Given the description of an element on the screen output the (x, y) to click on. 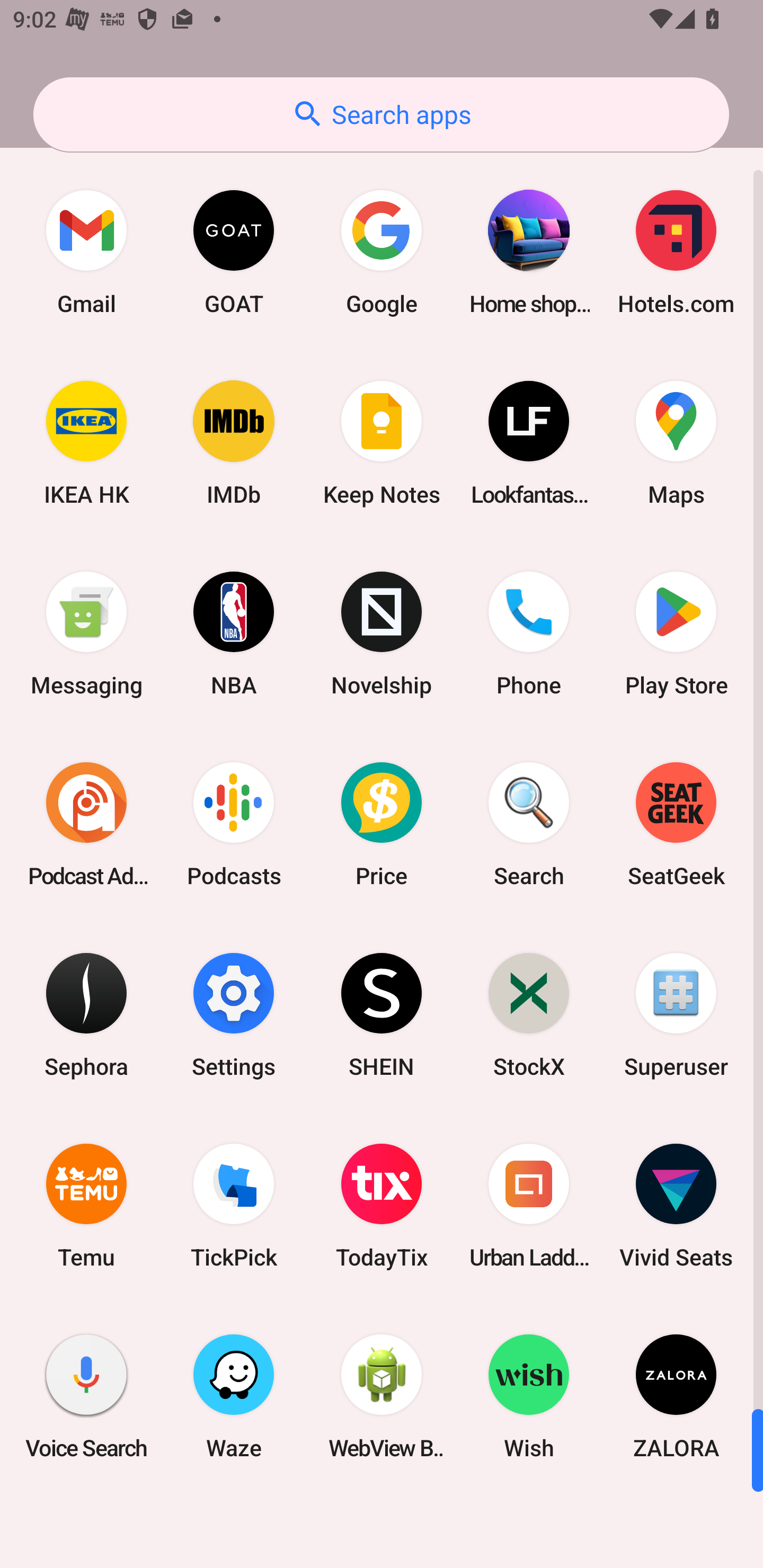
  Search apps (381, 114)
Gmail (86, 252)
GOAT (233, 252)
Google (381, 252)
Home shopping (528, 252)
Hotels.com (676, 252)
IKEA HK (86, 442)
IMDb (233, 442)
Keep Notes (381, 442)
Lookfantastic (528, 442)
Maps (676, 442)
Messaging (86, 633)
NBA (233, 633)
Novelship (381, 633)
Phone (528, 633)
Play Store (676, 633)
Podcast Addict (86, 823)
Podcasts (233, 823)
Price (381, 823)
Search (528, 823)
SeatGeek (676, 823)
Sephora (86, 1014)
Settings (233, 1014)
SHEIN (381, 1014)
StockX (528, 1014)
Superuser (676, 1014)
Temu (86, 1205)
TickPick (233, 1205)
TodayTix (381, 1205)
Urban Ladder (528, 1205)
Vivid Seats (676, 1205)
Voice Search (86, 1396)
Waze (233, 1396)
WebView Browser Tester (381, 1396)
Wish (528, 1396)
ZALORA (676, 1396)
